Given the description of an element on the screen output the (x, y) to click on. 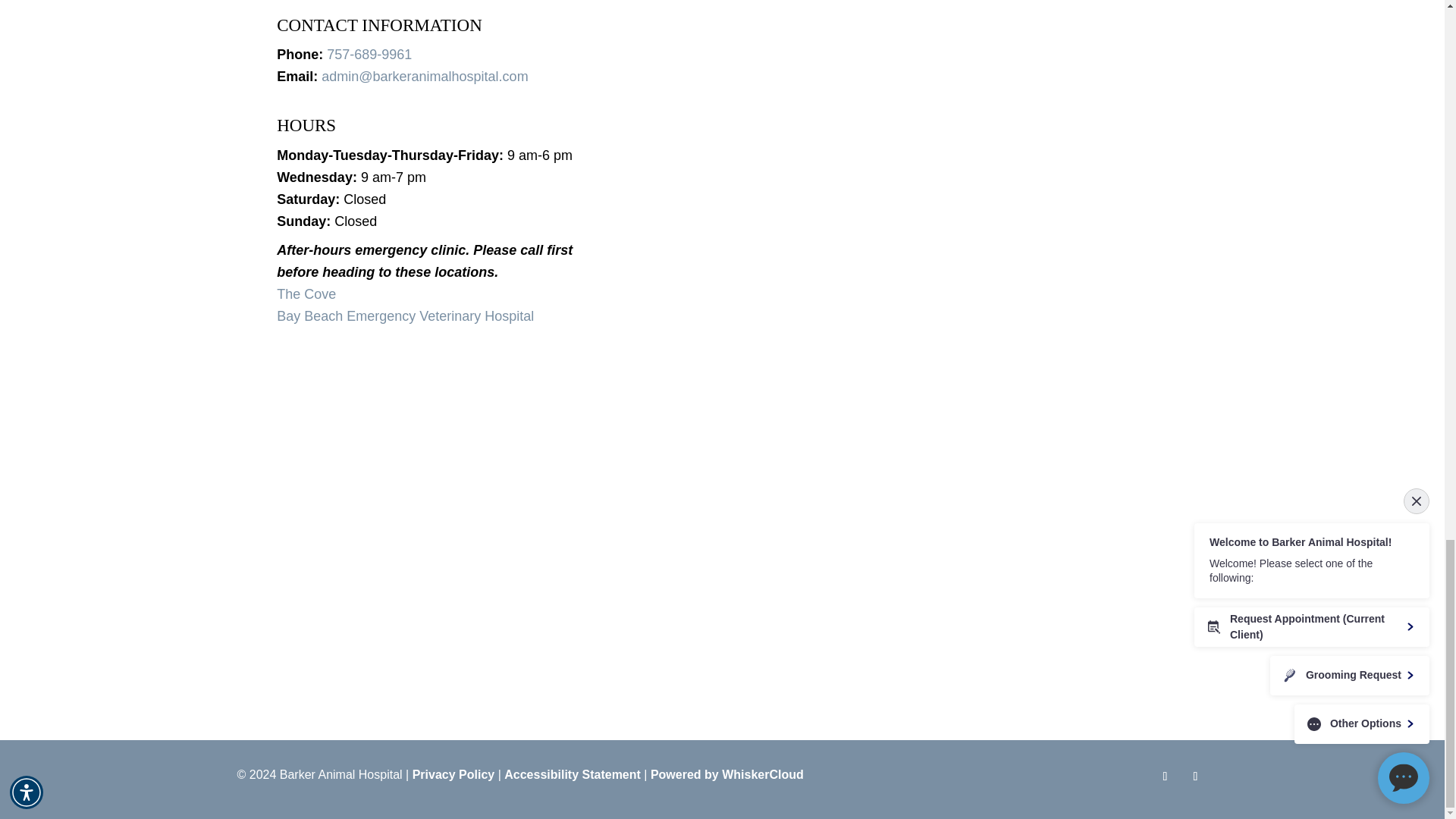
Follow on Google (1194, 776)
Follow on Facebook (1164, 776)
